Given the description of an element on the screen output the (x, y) to click on. 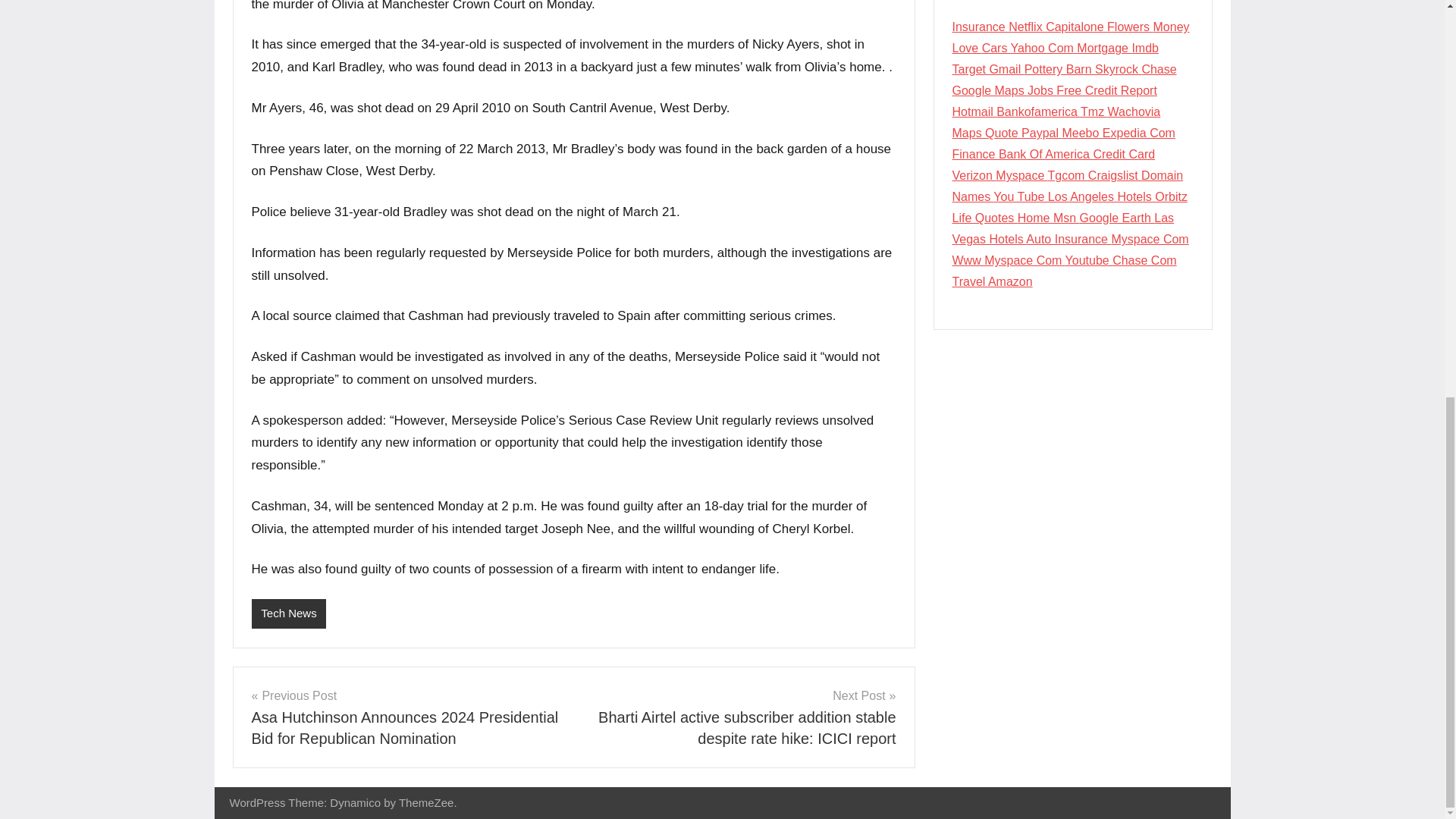
Skyrock (1117, 69)
Love (966, 47)
Chase (1158, 69)
Cars (995, 47)
Target (971, 69)
Pottery Barn (1059, 69)
Maps (968, 132)
Mortgage (1104, 47)
